Given the description of an element on the screen output the (x, y) to click on. 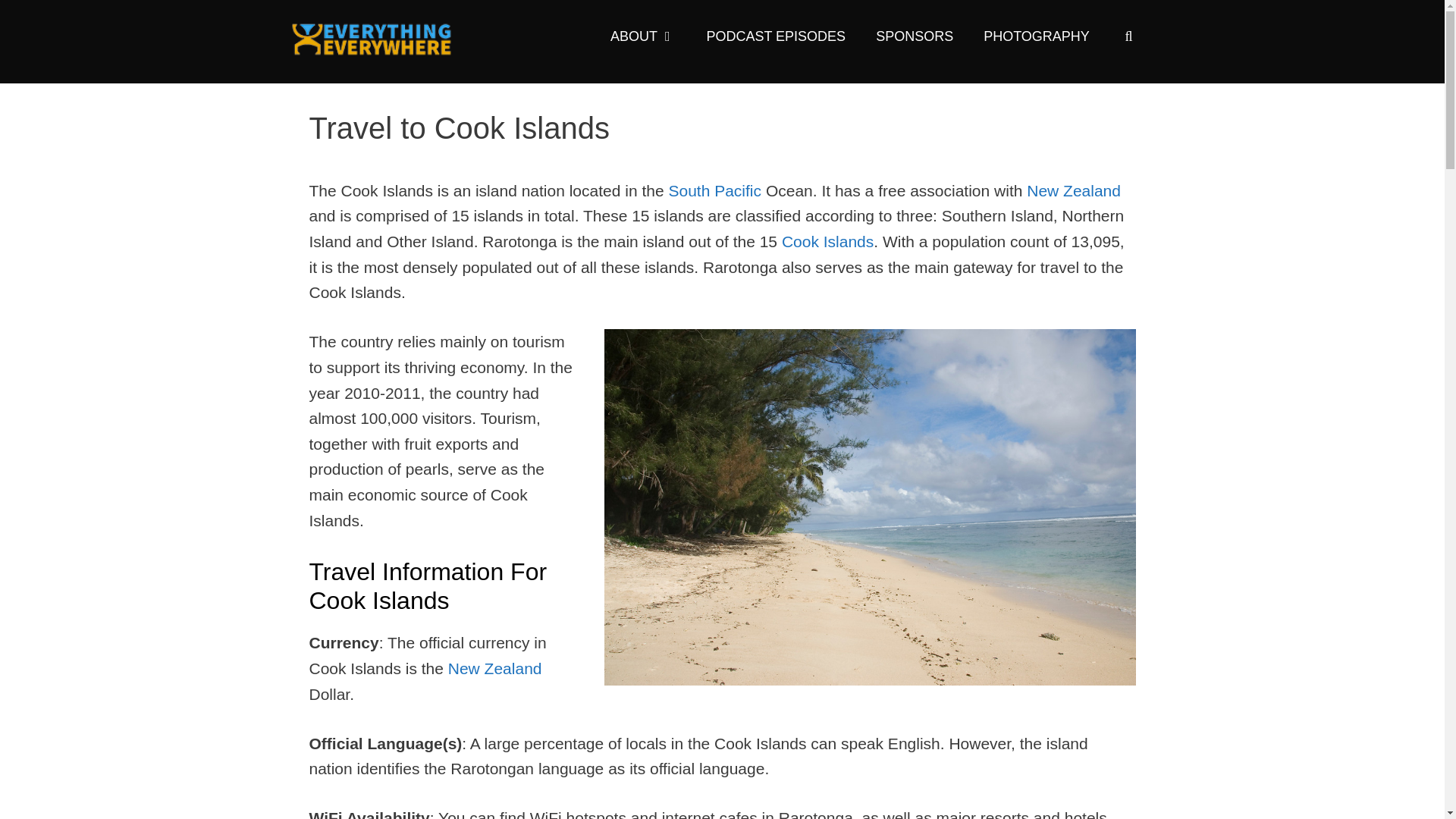
Search (41, 20)
SPONSORS (914, 36)
South Pacific (714, 190)
New Zealand (494, 668)
PODCAST EPISODES (775, 36)
Cook Islands (827, 241)
ABOUT (642, 36)
PHOTOGRAPHY (1036, 36)
New Zealand (1073, 190)
